Given the description of an element on the screen output the (x, y) to click on. 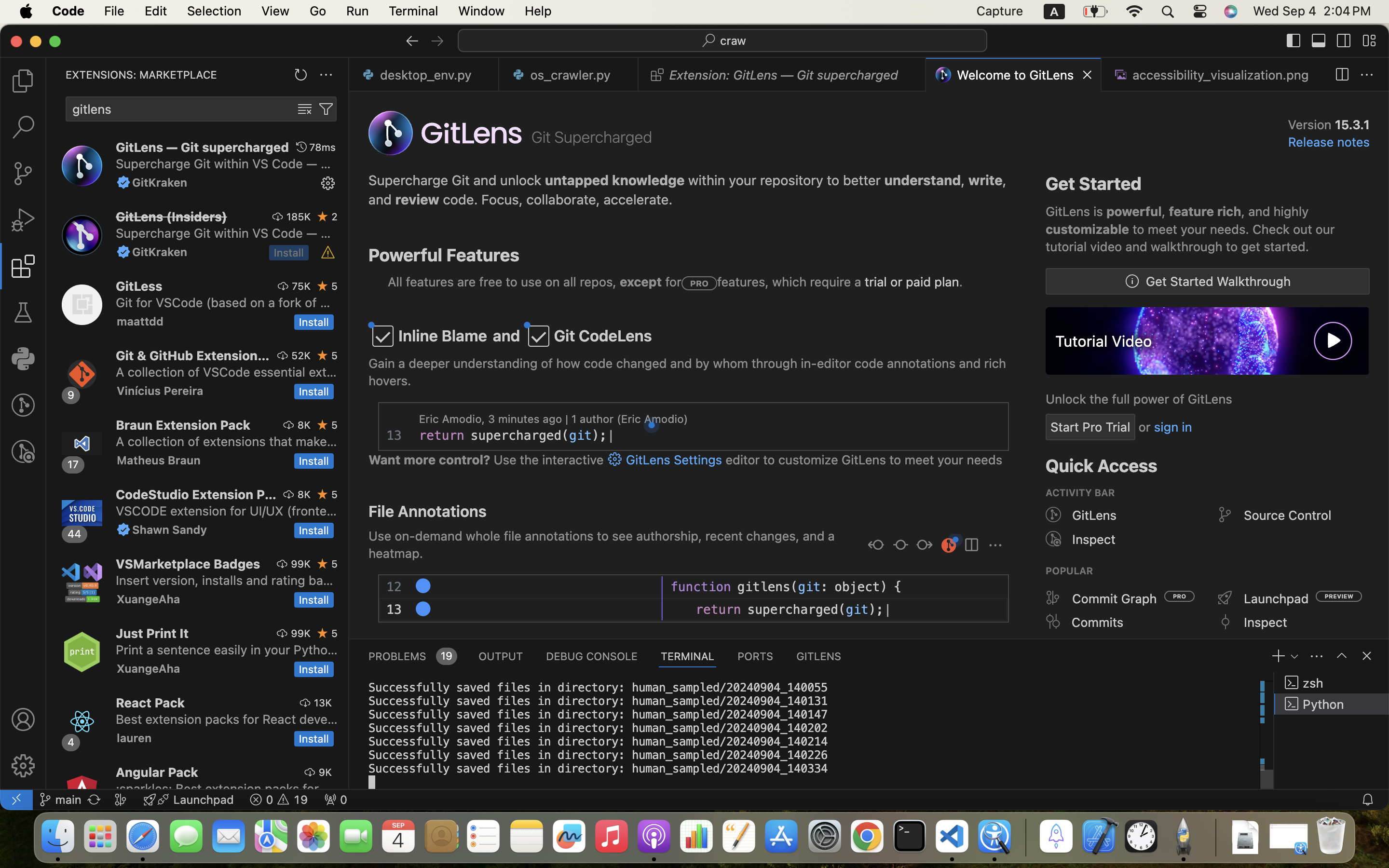
powerful Element type: AXStaticText (1134, 211)
supercharged Element type: AXStaticText (516, 435)
17 Element type: AXStaticText (73, 464)
Powerful Features Element type: AXStaticText (443, 254)
13 Element type: AXStaticText (394, 435)
